Given the description of an element on the screen output the (x, y) to click on. 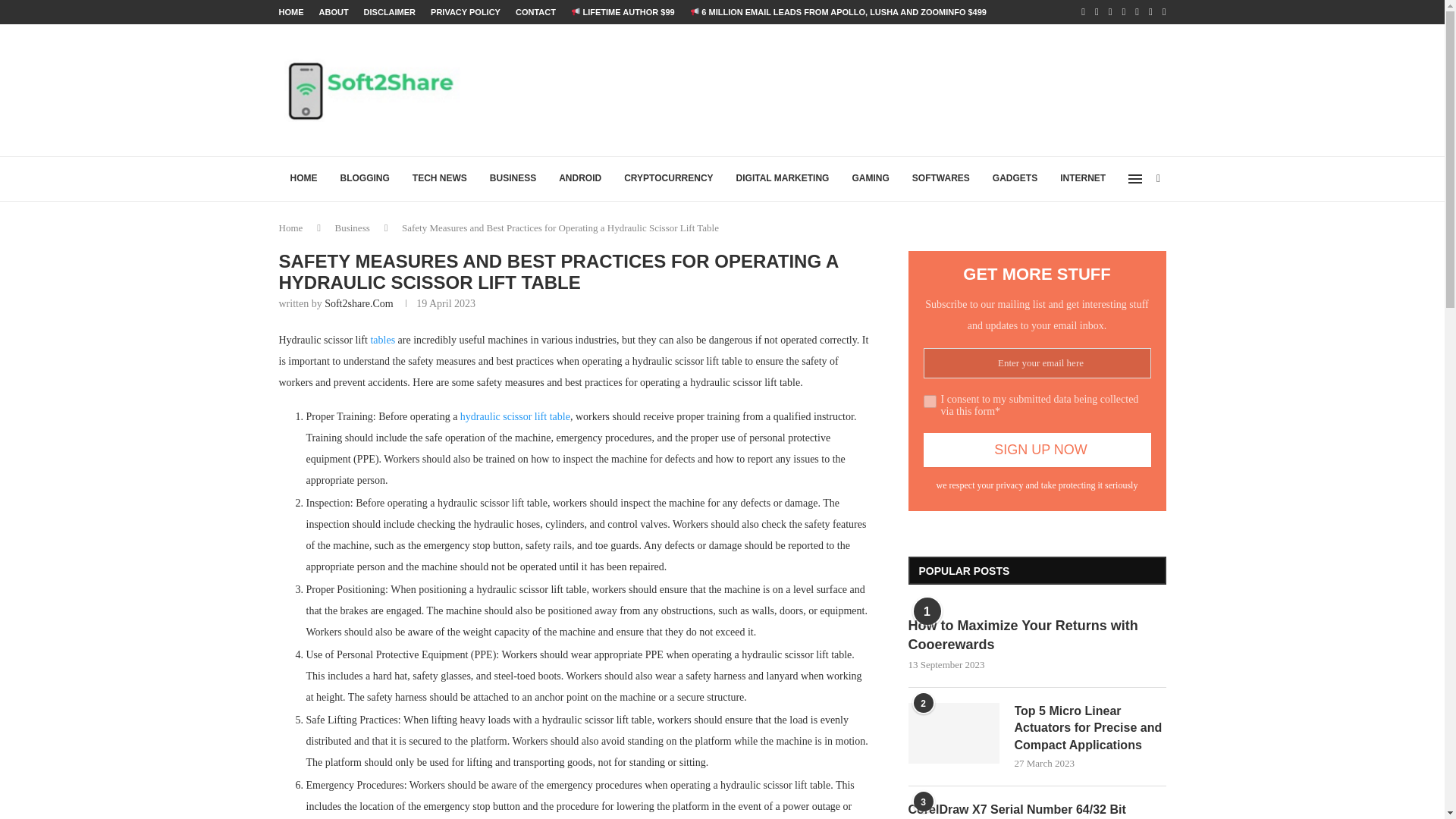
HOME (304, 178)
ANDROID (579, 178)
SOFTWARES (941, 178)
Advertisement (890, 88)
Home (290, 227)
TECH NEWS (440, 178)
GADGETS (1014, 178)
hydraulic scissor lift table (515, 416)
INTERNET (1082, 178)
PRIVACY POLICY (465, 12)
BUSINESS (513, 178)
on (929, 400)
Soft2share.Com (358, 303)
GAMING (869, 178)
DISCLAIMER (389, 12)
